Given the description of an element on the screen output the (x, y) to click on. 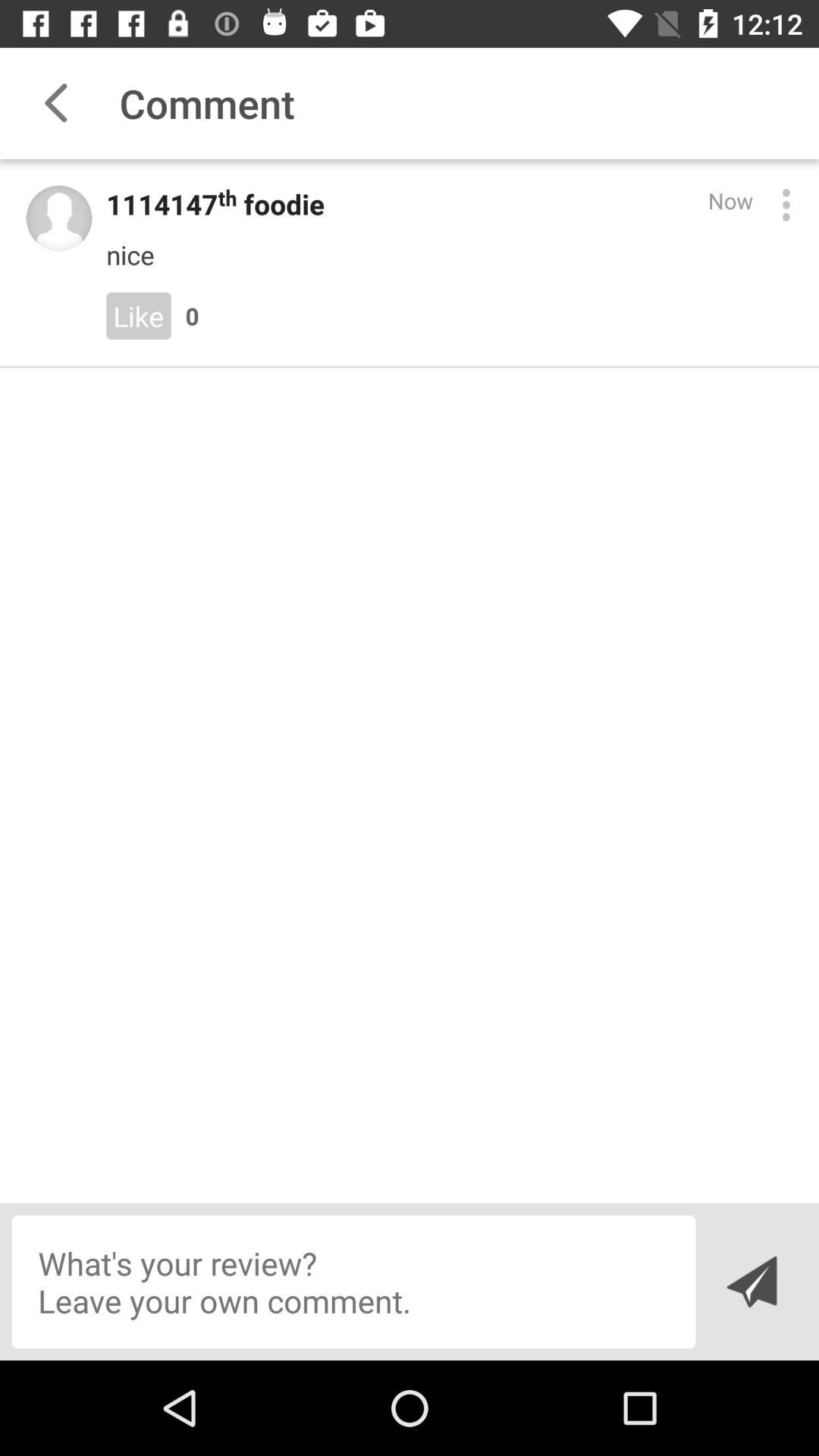
options (786, 204)
